Given the description of an element on the screen output the (x, y) to click on. 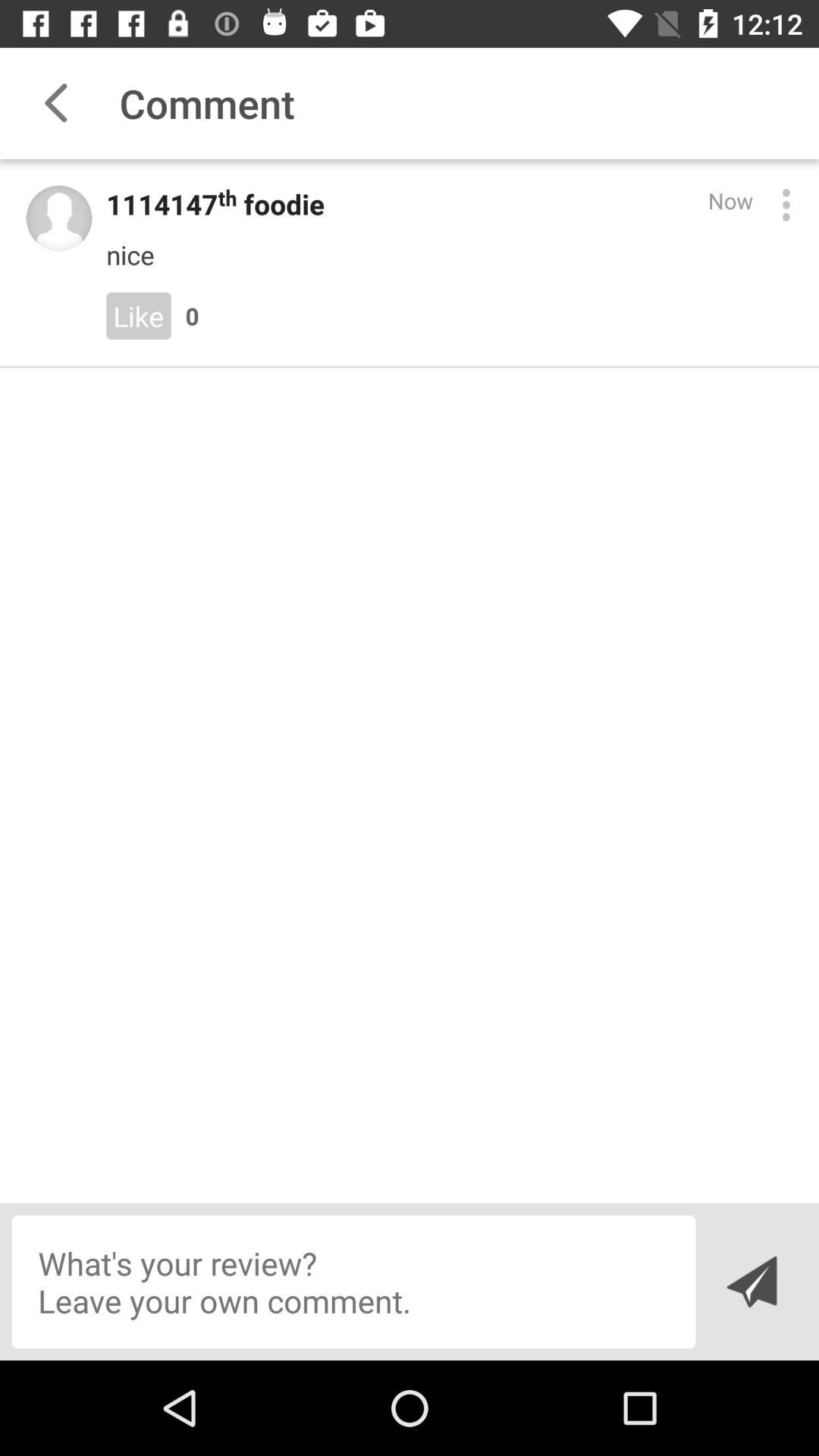
options (786, 204)
